Given the description of an element on the screen output the (x, y) to click on. 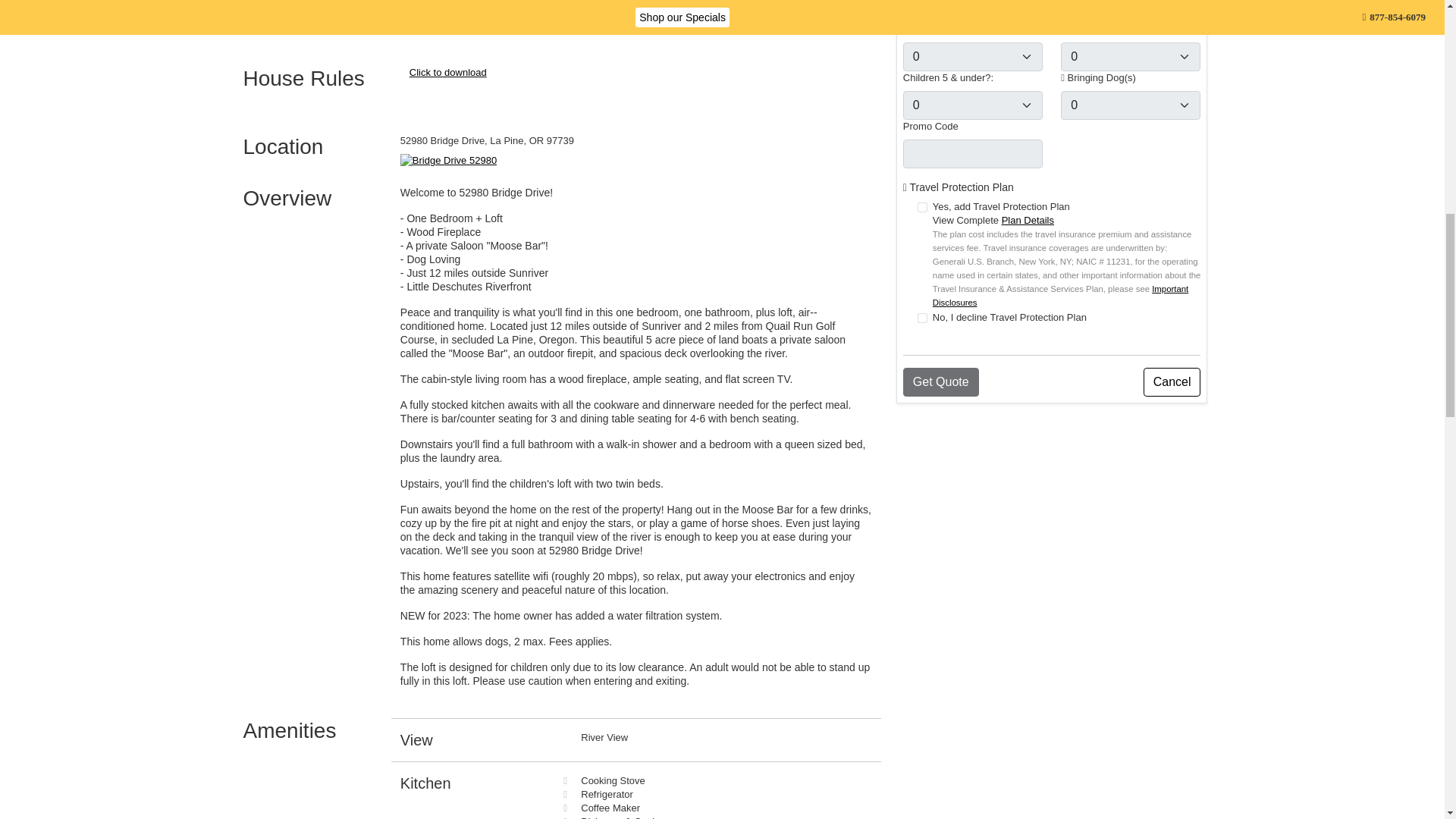
1 (922, 207)
1 (922, 317)
Click to download (447, 71)
Get Quote (940, 381)
